Given the description of an element on the screen output the (x, y) to click on. 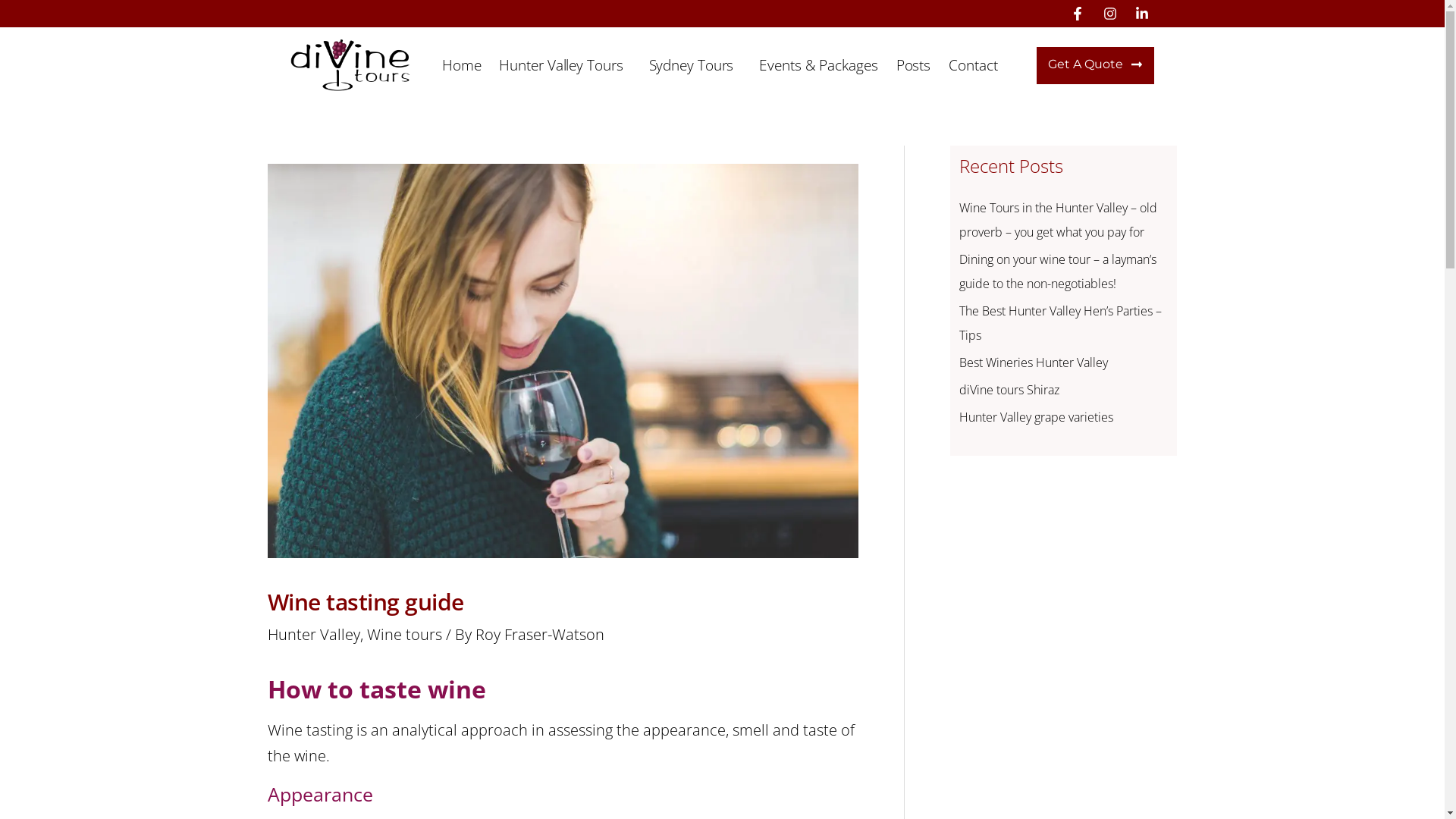
Contact Element type: text (976, 64)
diVine tours Shiraz Element type: text (1008, 389)
Hunter Valley grape varieties Element type: text (1035, 416)
Wine tours Element type: text (404, 634)
Home Element type: text (461, 64)
Best Wineries Hunter Valley Element type: text (1032, 362)
Roy Fraser-Watson Element type: text (538, 634)
Events & Packages Element type: text (818, 64)
Sydney Tours Element type: text (695, 64)
Posts Element type: text (913, 64)
Hunter Valley Tours Element type: text (564, 64)
Hunter Valley Element type: text (312, 634)
Get A Quote Element type: text (1095, 65)
